Given the description of an element on the screen output the (x, y) to click on. 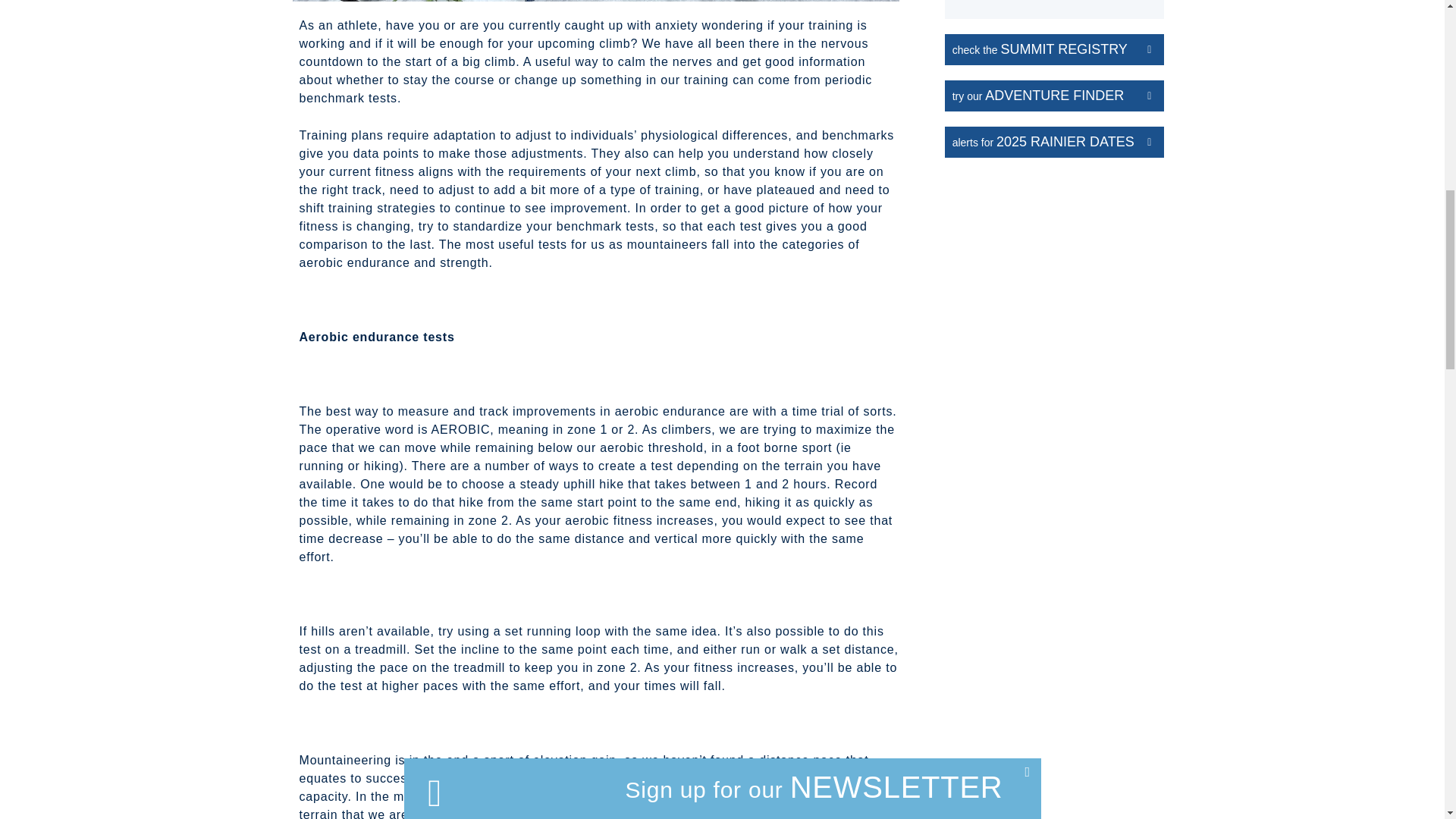
Sign Up Now (915, 413)
Sign Up (1054, 2)
